Given the description of an element on the screen output the (x, y) to click on. 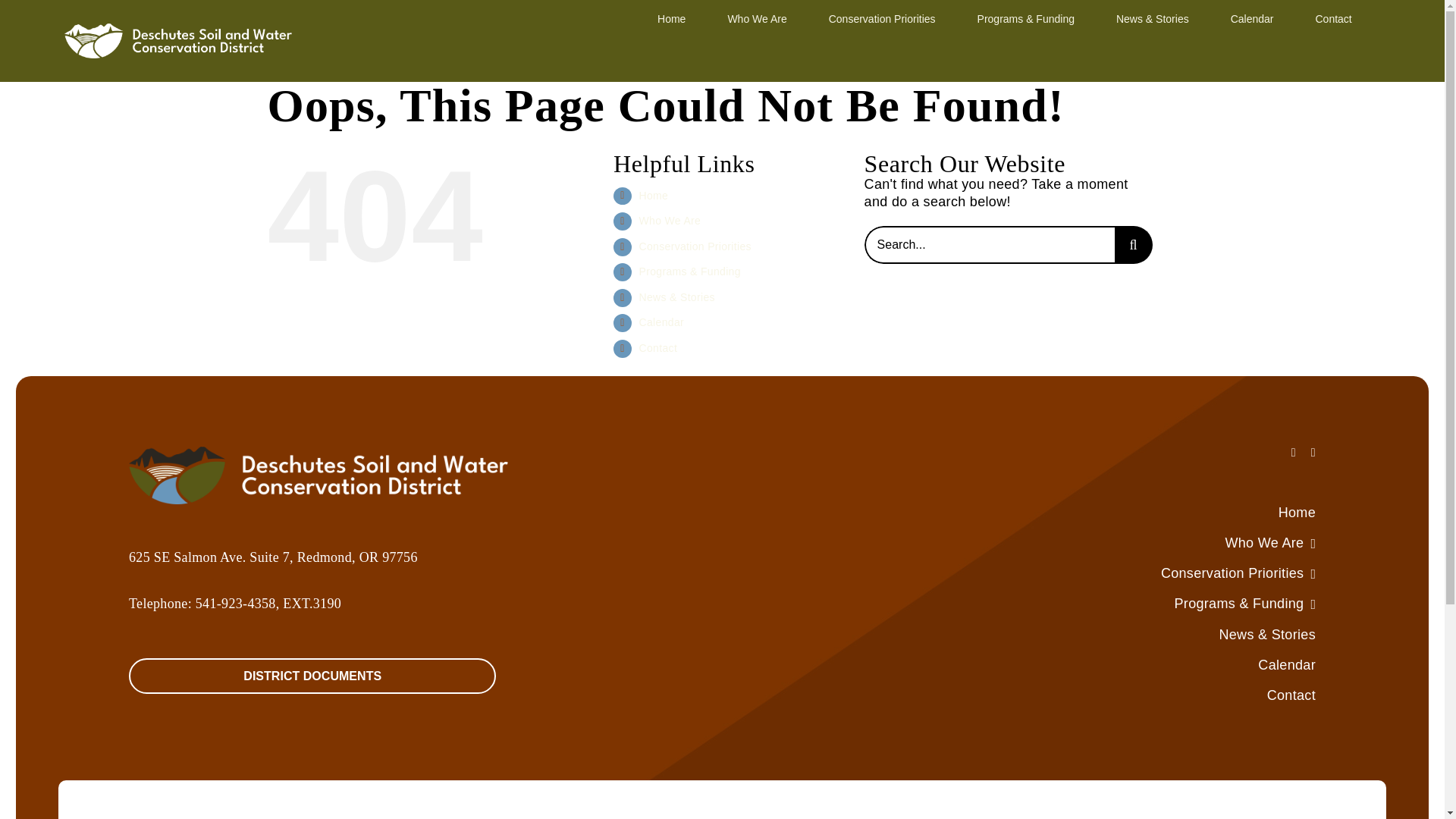
Who We Are (756, 17)
Conservation Priorities (882, 17)
Calendar (1252, 17)
Contact (1332, 17)
